Given the description of an element on the screen output the (x, y) to click on. 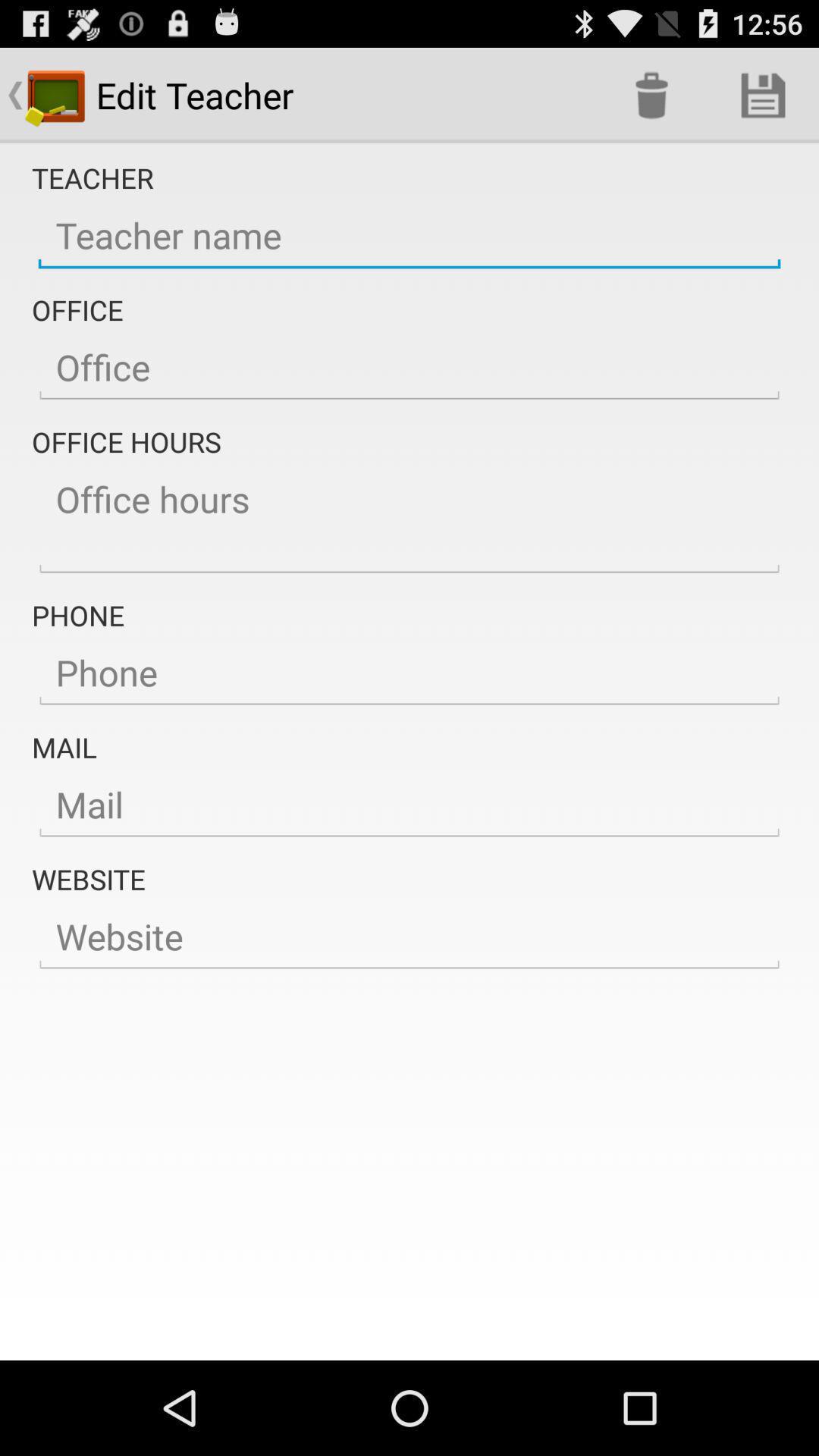
enter e-mail (409, 805)
